Given the description of an element on the screen output the (x, y) to click on. 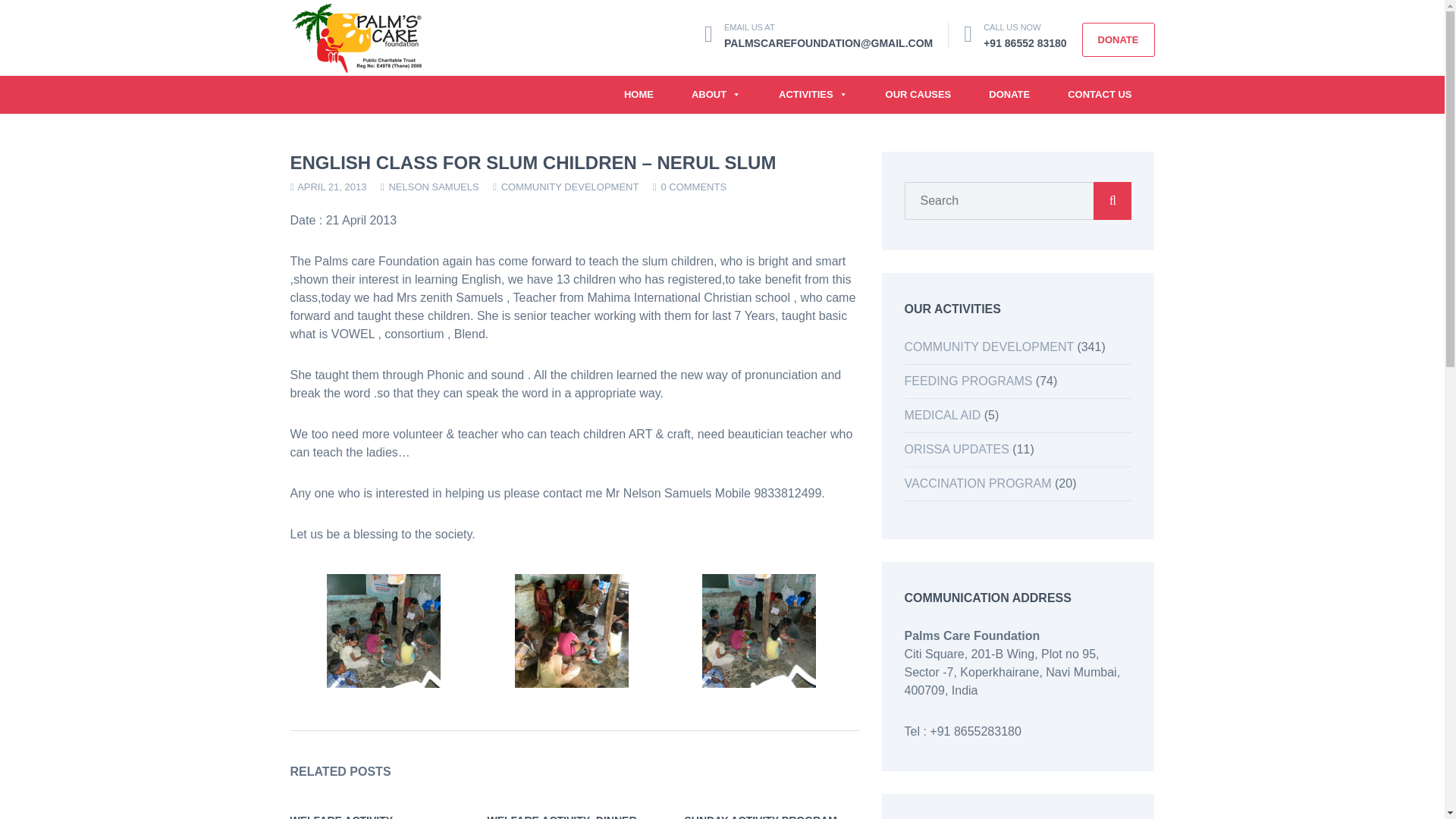
ABOUT (716, 94)
ACTIVITIES (812, 94)
OUR CAUSES (918, 94)
DONATE (1009, 94)
Email Us (828, 42)
DONATE (1117, 39)
CONTACT US (1099, 94)
0 COMMENTS (693, 186)
HOME (638, 94)
COMMUNITY DEVELOPMENT (569, 186)
Palms Care Foundation (355, 36)
DONATE (1117, 39)
